Given the description of an element on the screen output the (x, y) to click on. 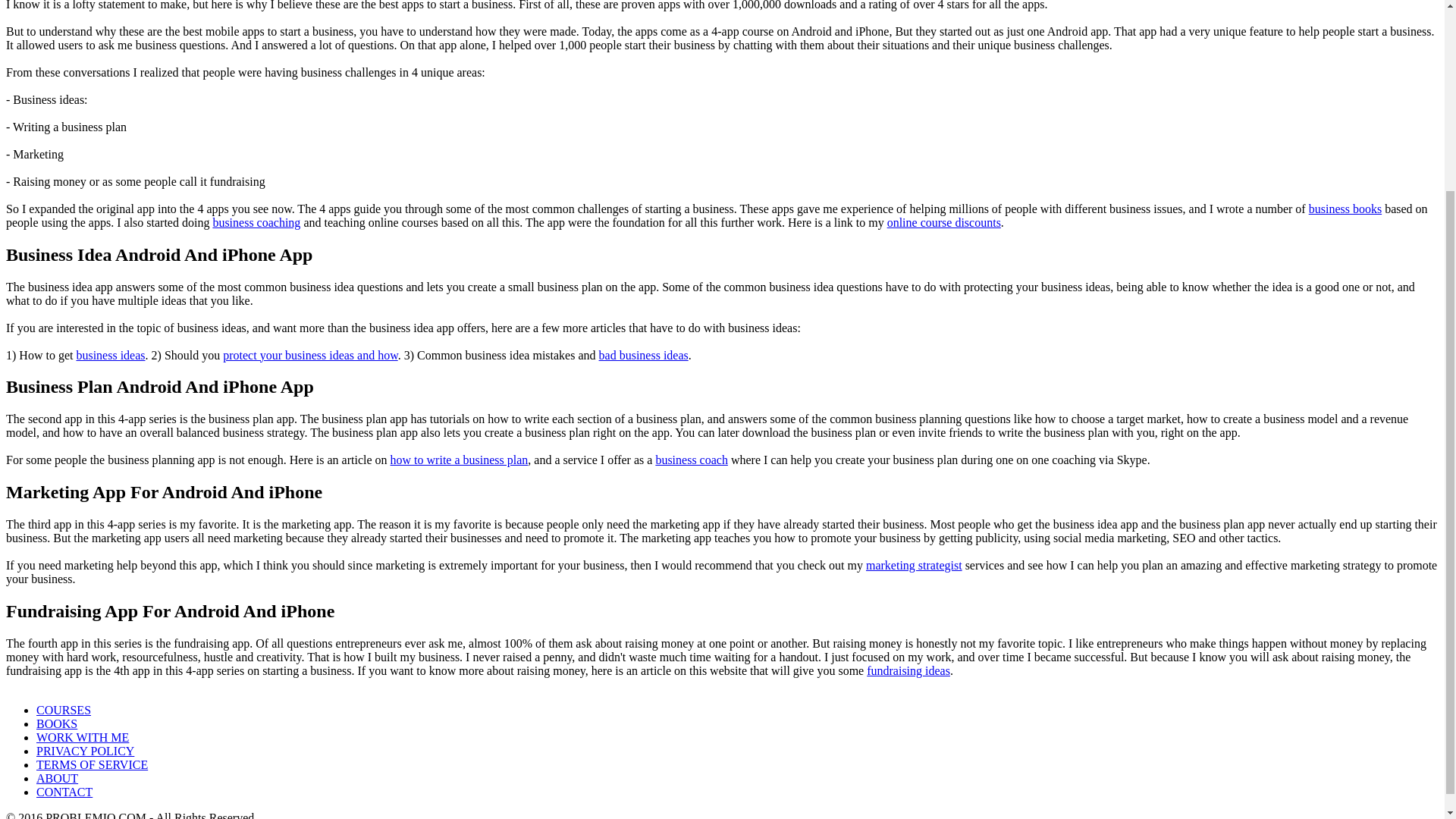
WORK WITH ME (82, 737)
business coach (691, 459)
PRIVACY POLICY (84, 750)
fundraising ideas (908, 670)
bad business ideas (643, 354)
business ideas (109, 354)
online course discounts (943, 222)
protect your business ideas and how (309, 354)
BOOKS (56, 723)
marketing strategist (914, 564)
